Given the description of an element on the screen output the (x, y) to click on. 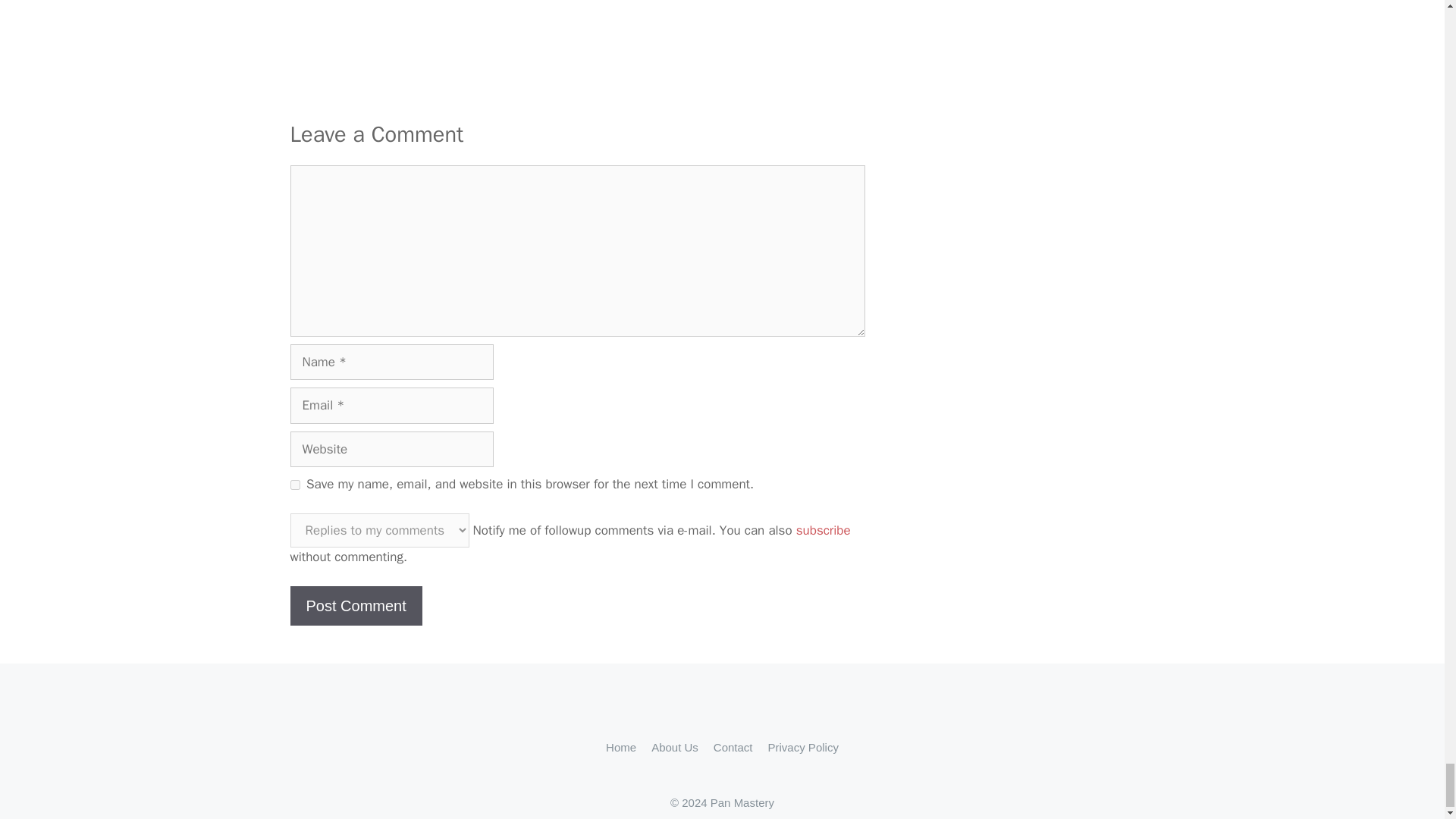
Post Comment (355, 605)
yes (294, 484)
